Given the description of an element on the screen output the (x, y) to click on. 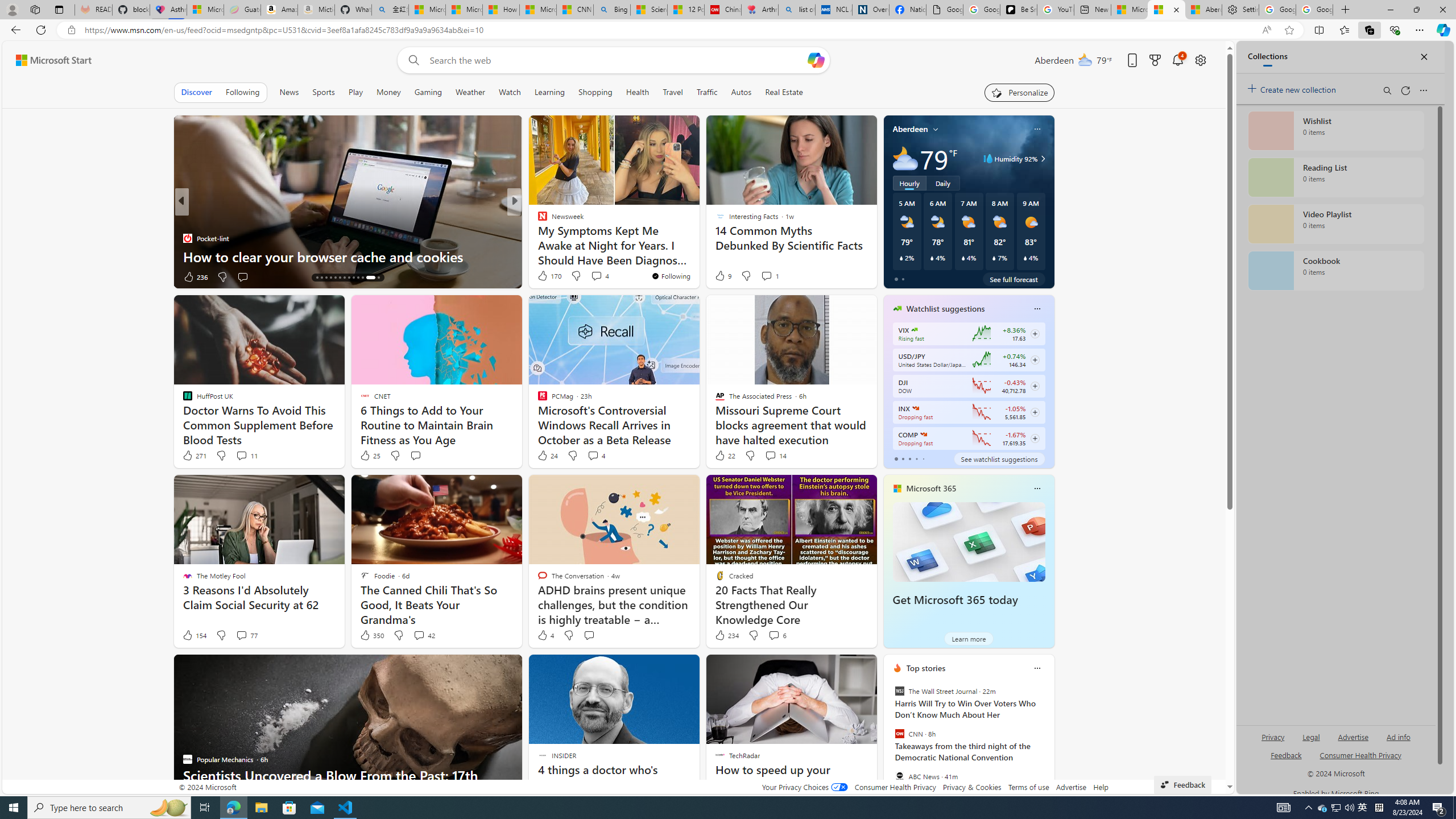
How I Got Rid of Microsoft Edge's Unnecessary Features (500, 9)
Terms of use (1028, 786)
AutomationID: tab-20 (344, 277)
Be Smart | creating Science videos | Patreon (1018, 9)
24 Like (546, 455)
Aberdeen, Hong Kong SAR hourly forecast | Microsoft Weather (1203, 9)
tab-2 (908, 458)
View comments 42 Comment (419, 635)
Weather (470, 92)
Privacy & Cookies (971, 786)
